Given the description of an element on the screen output the (x, y) to click on. 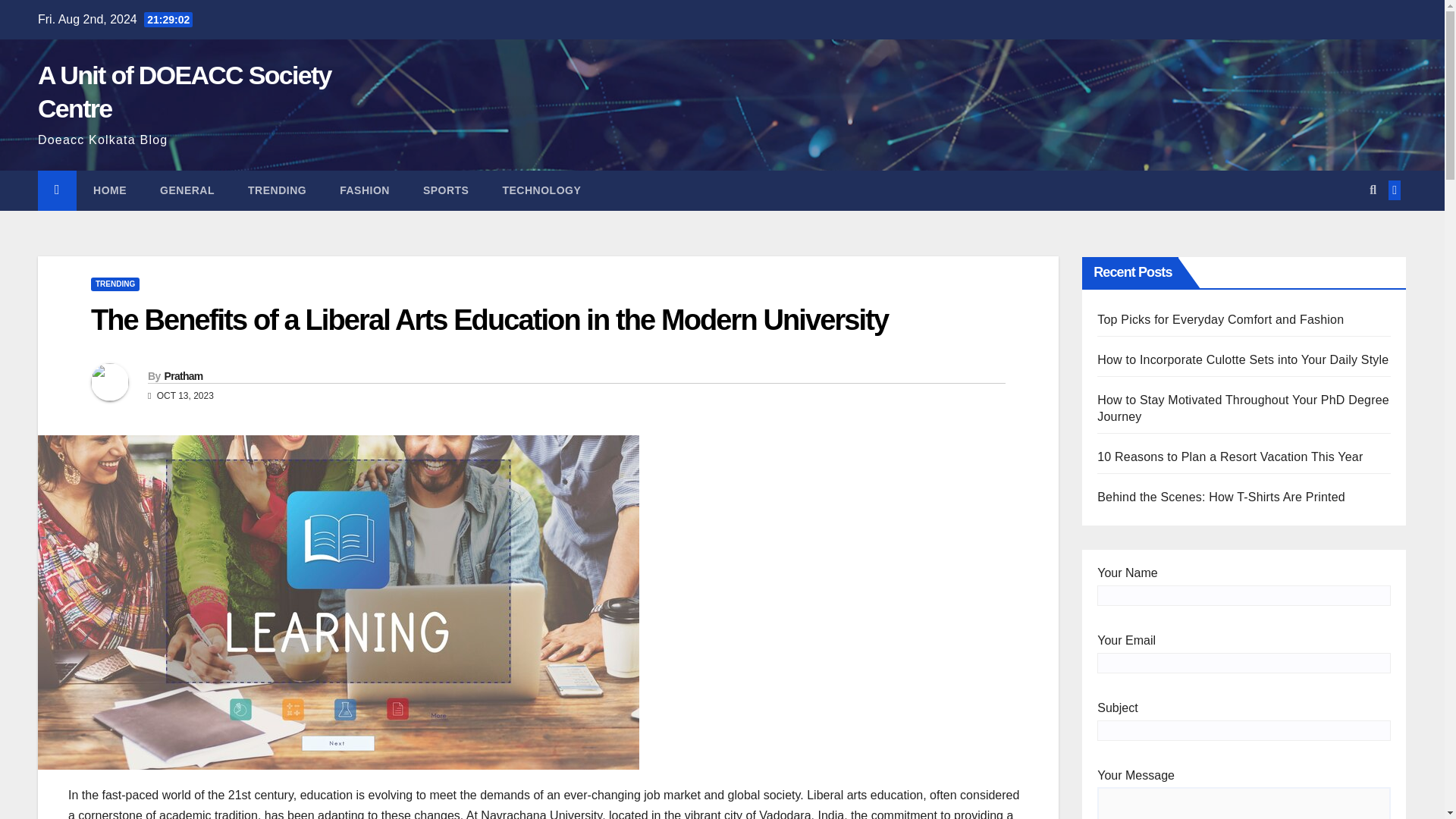
A Unit of DOEACC Society Centre (184, 91)
GENERAL (186, 189)
FASHION (364, 189)
TRENDING (277, 189)
TRENDING (114, 284)
Technology (540, 189)
SPORTS (446, 189)
Sports (446, 189)
